Given the description of an element on the screen output the (x, y) to click on. 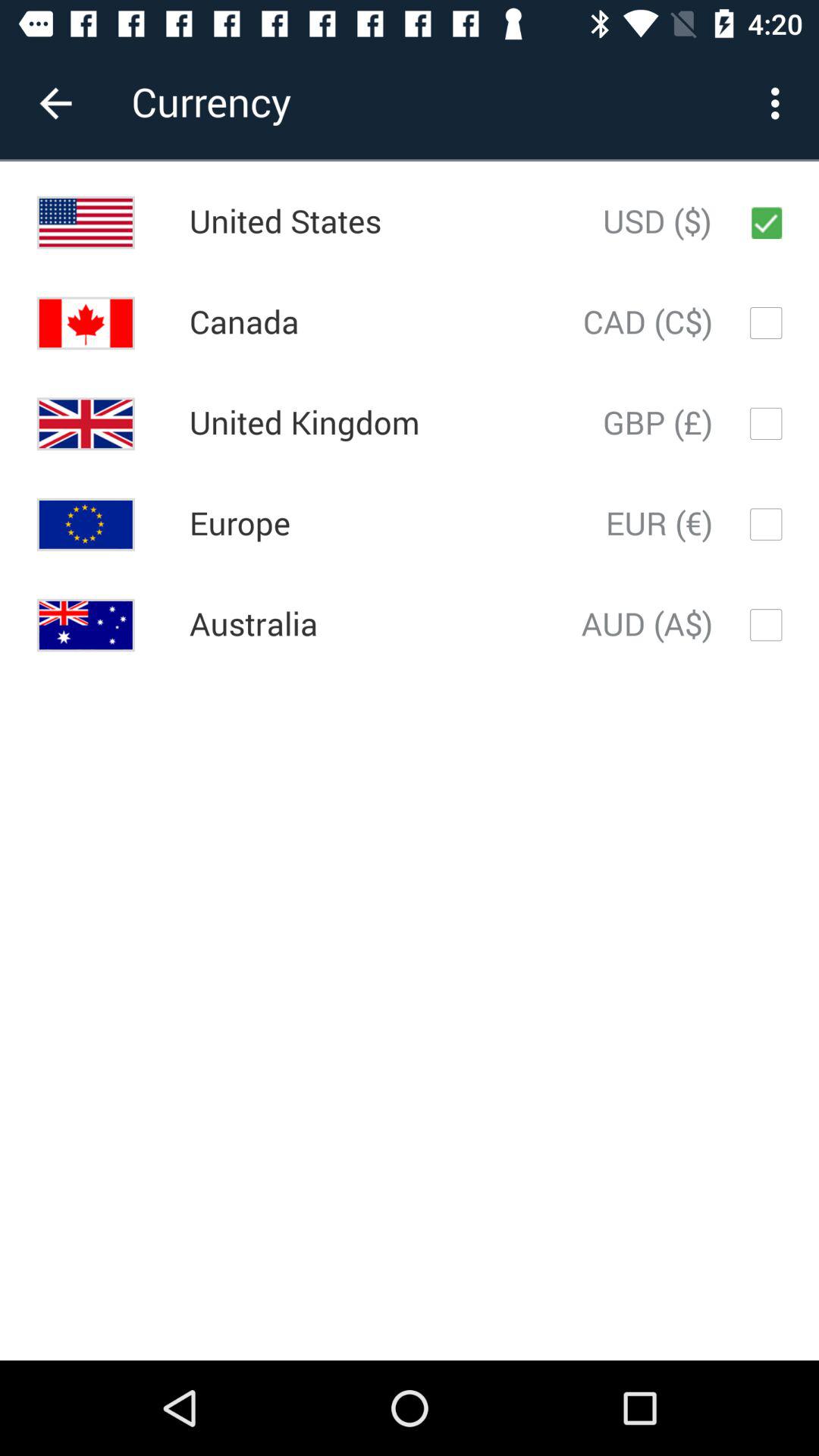
scroll to cad (c$) icon (647, 322)
